Given the description of an element on the screen output the (x, y) to click on. 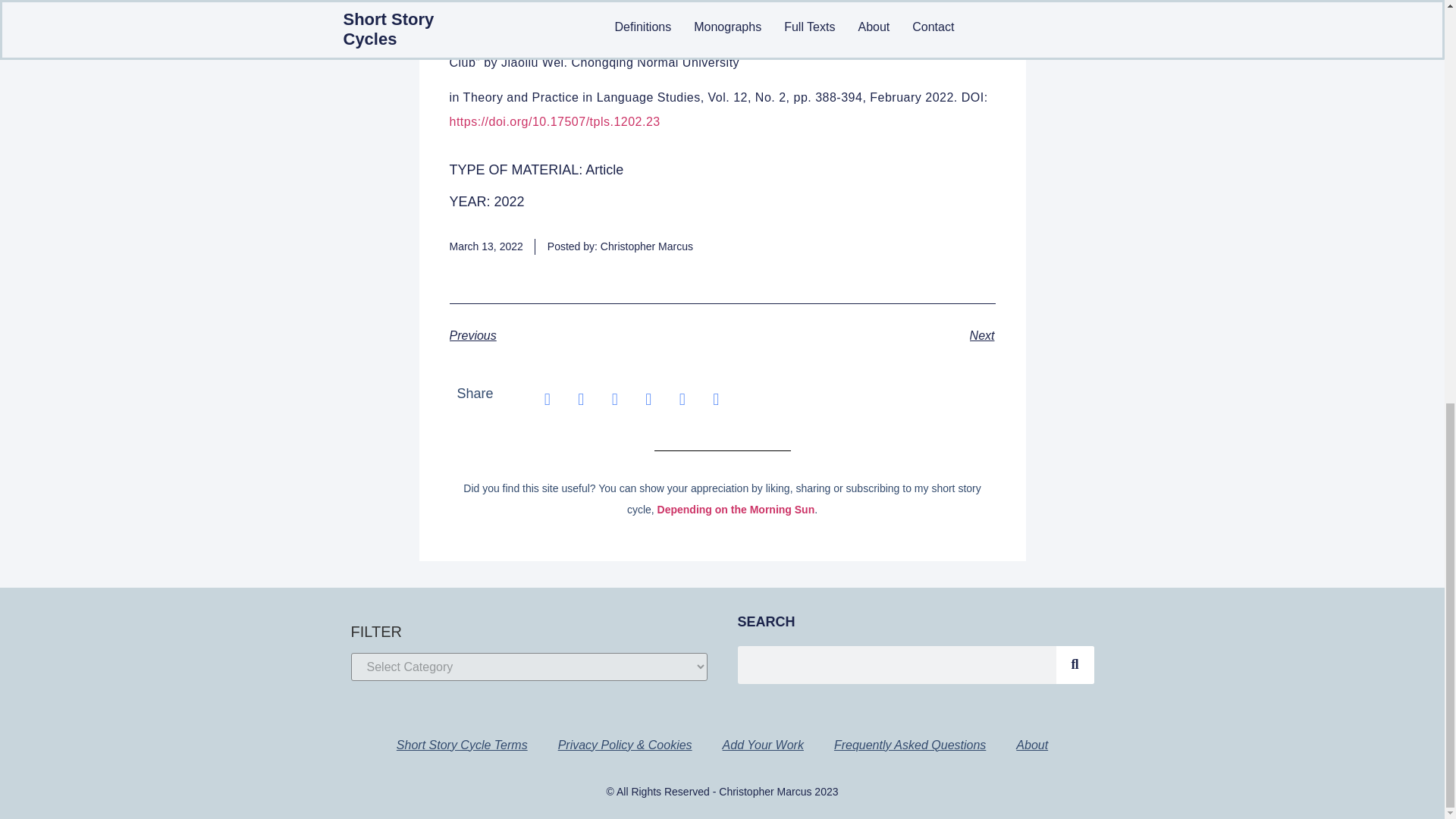
2022 (509, 201)
Posted by: Christopher Marcus (620, 246)
Next (858, 335)
Depending on the Morning Sun (736, 509)
March 13, 2022 (485, 246)
Article (604, 169)
Previous (585, 335)
